Given the description of an element on the screen output the (x, y) to click on. 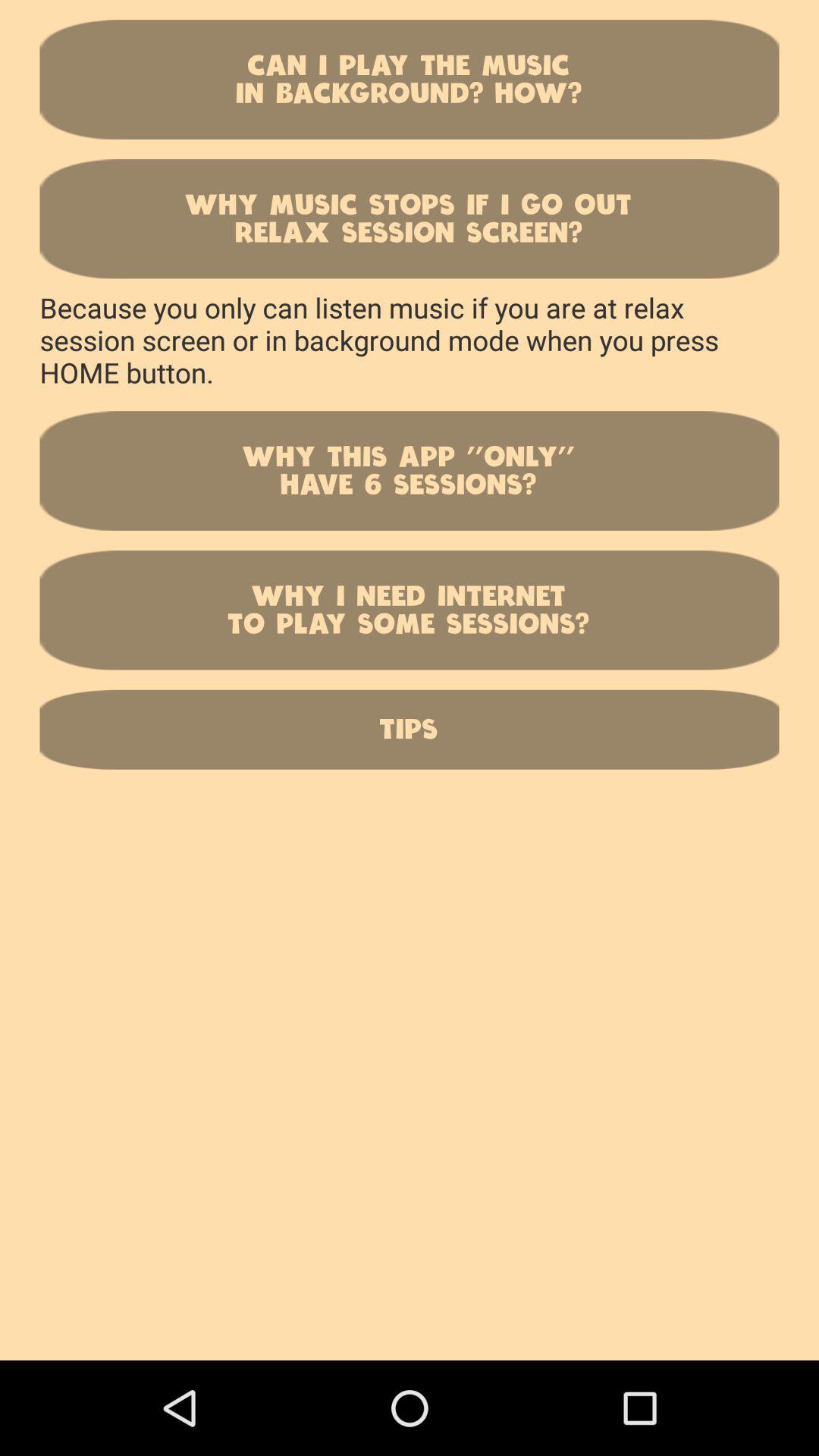
scroll to tips (409, 729)
